Given the description of an element on the screen output the (x, y) to click on. 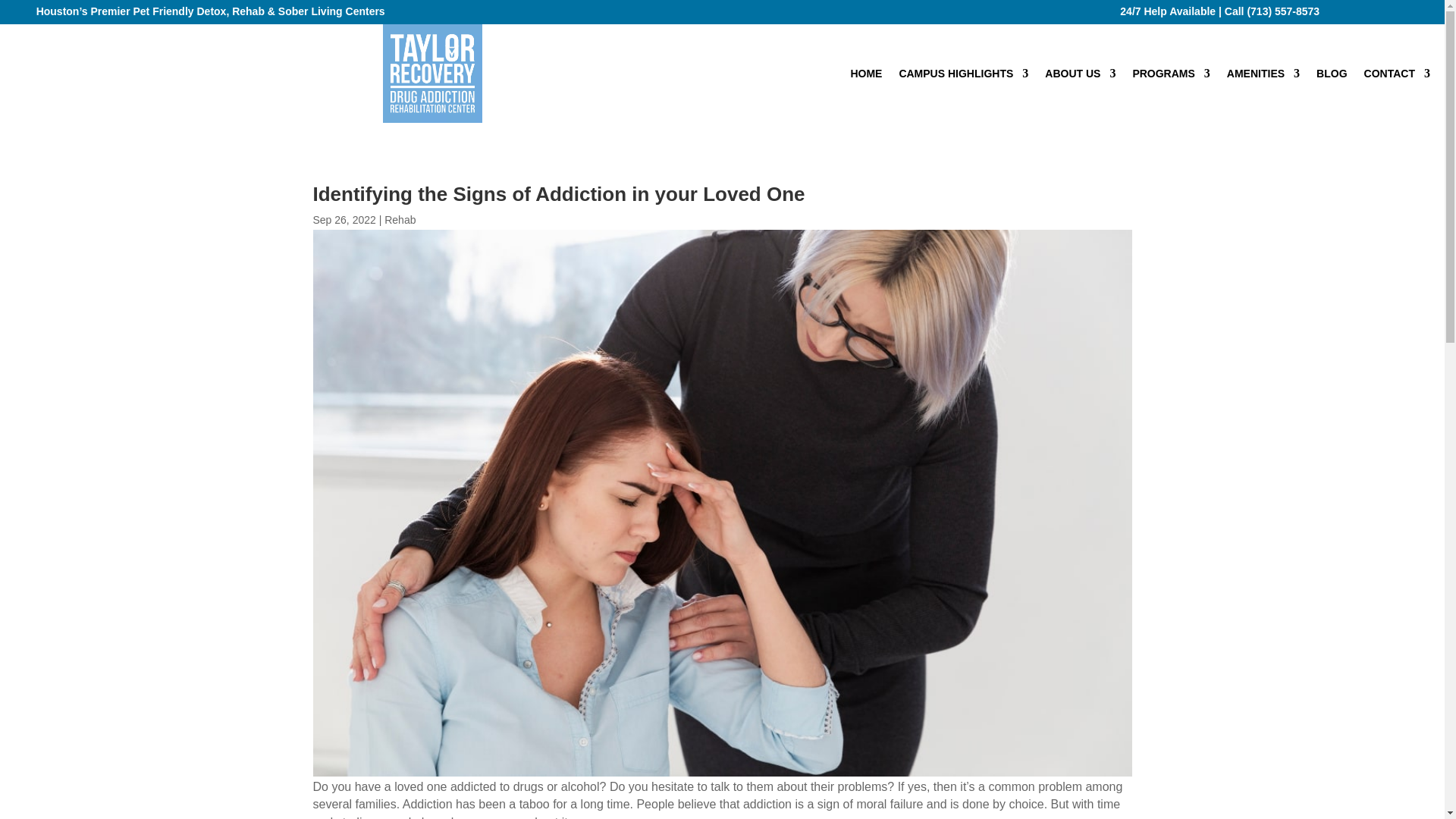
Rehab (399, 219)
CONTACT (1396, 76)
CAMPUS HIGHLIGHTS (962, 76)
Identifying the Signs of Addiction in your Loved One (431, 73)
BLOG (1331, 76)
HOME (866, 76)
ABOUT US (1080, 76)
PROGRAMS (1170, 76)
AMENITIES (1263, 76)
